Given the description of an element on the screen output the (x, y) to click on. 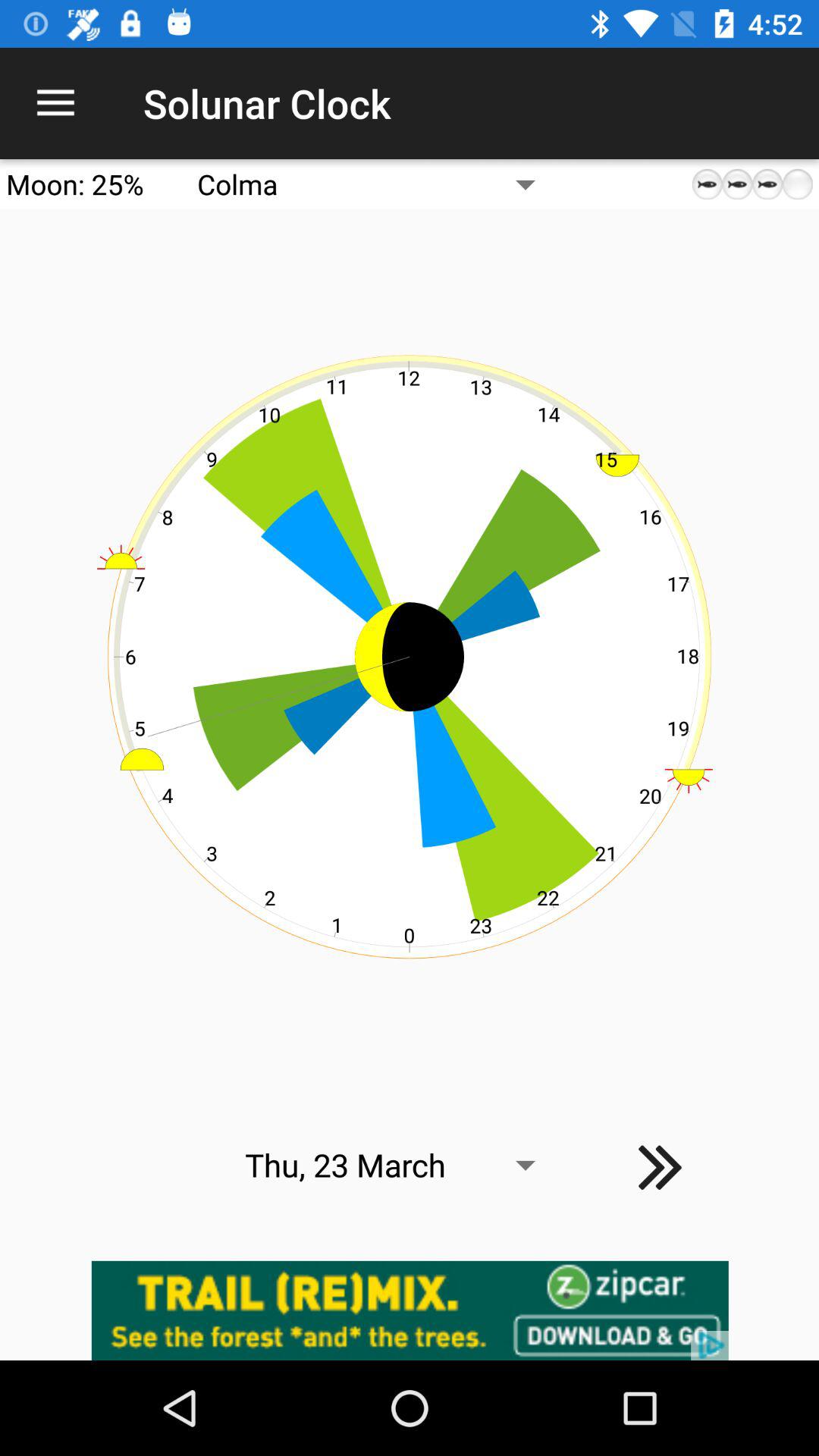
view app (409, 1310)
